Given the description of an element on the screen output the (x, y) to click on. 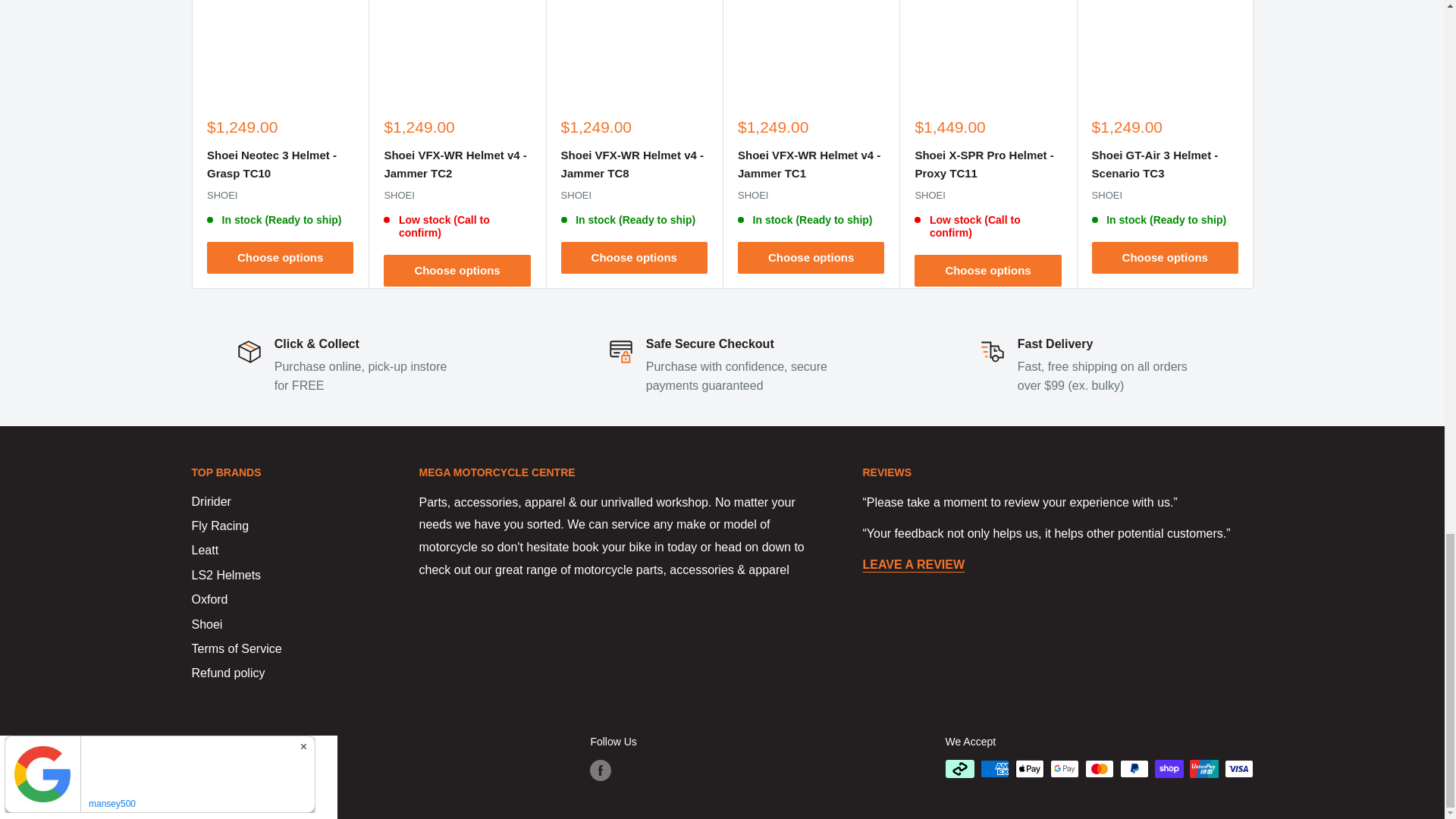
Online Reviews (914, 563)
